Given the description of an element on the screen output the (x, y) to click on. 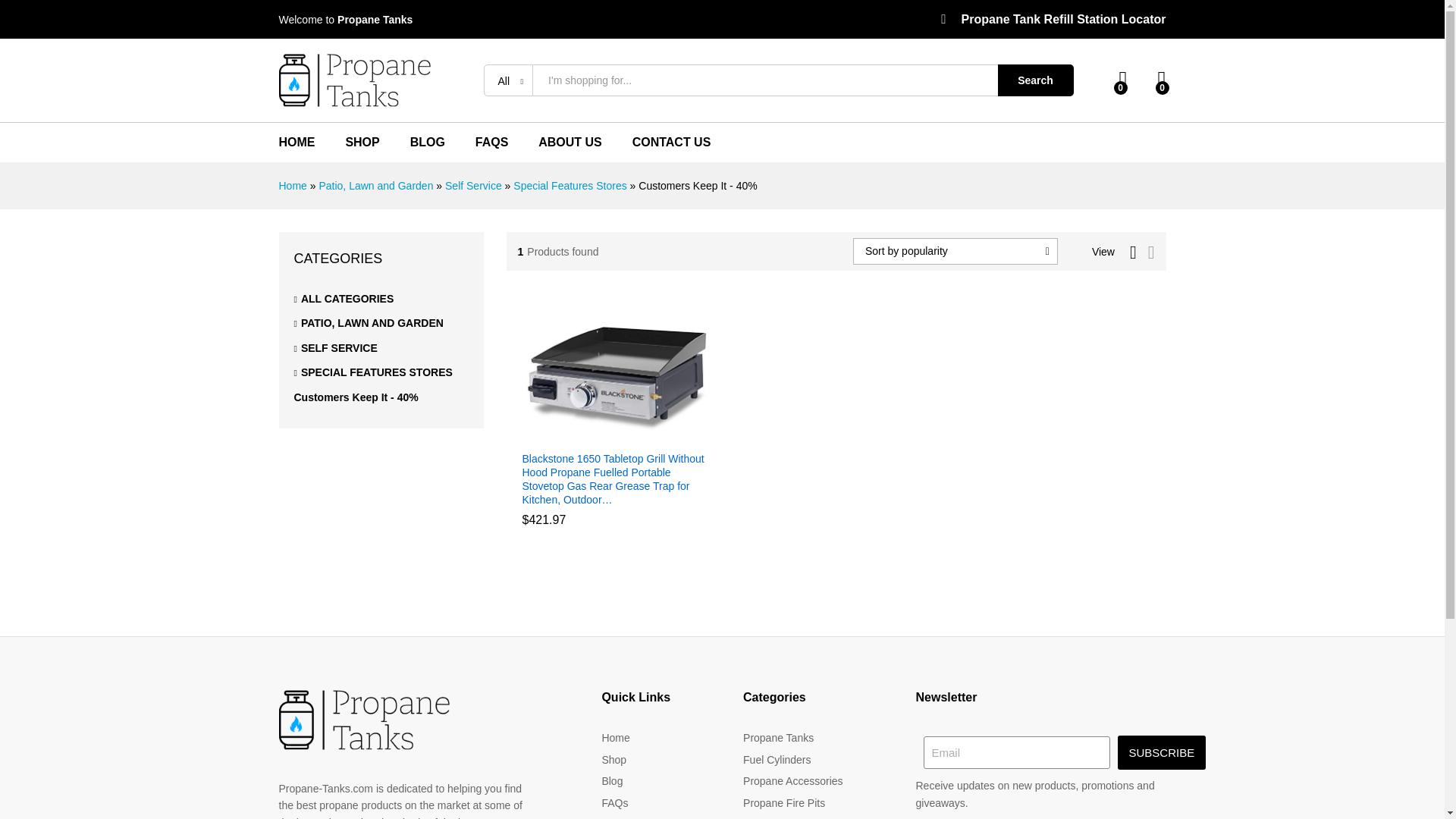
Search (1035, 80)
Home (293, 185)
Sort by price: low to high (1013, 334)
Propane Tank Refill Station Locator (1053, 19)
SHOP (361, 142)
Sort by latest (986, 334)
0 (1161, 79)
Patio, Lawn and Garden (375, 185)
SPECIAL FEATURES STORES (373, 372)
PATIO, LAWN AND GARDEN (369, 322)
Self Service (473, 185)
Sort by average rating (1007, 334)
CONTACT US (671, 142)
FAQS (492, 142)
ABOUT US (570, 142)
